Given the description of an element on the screen output the (x, y) to click on. 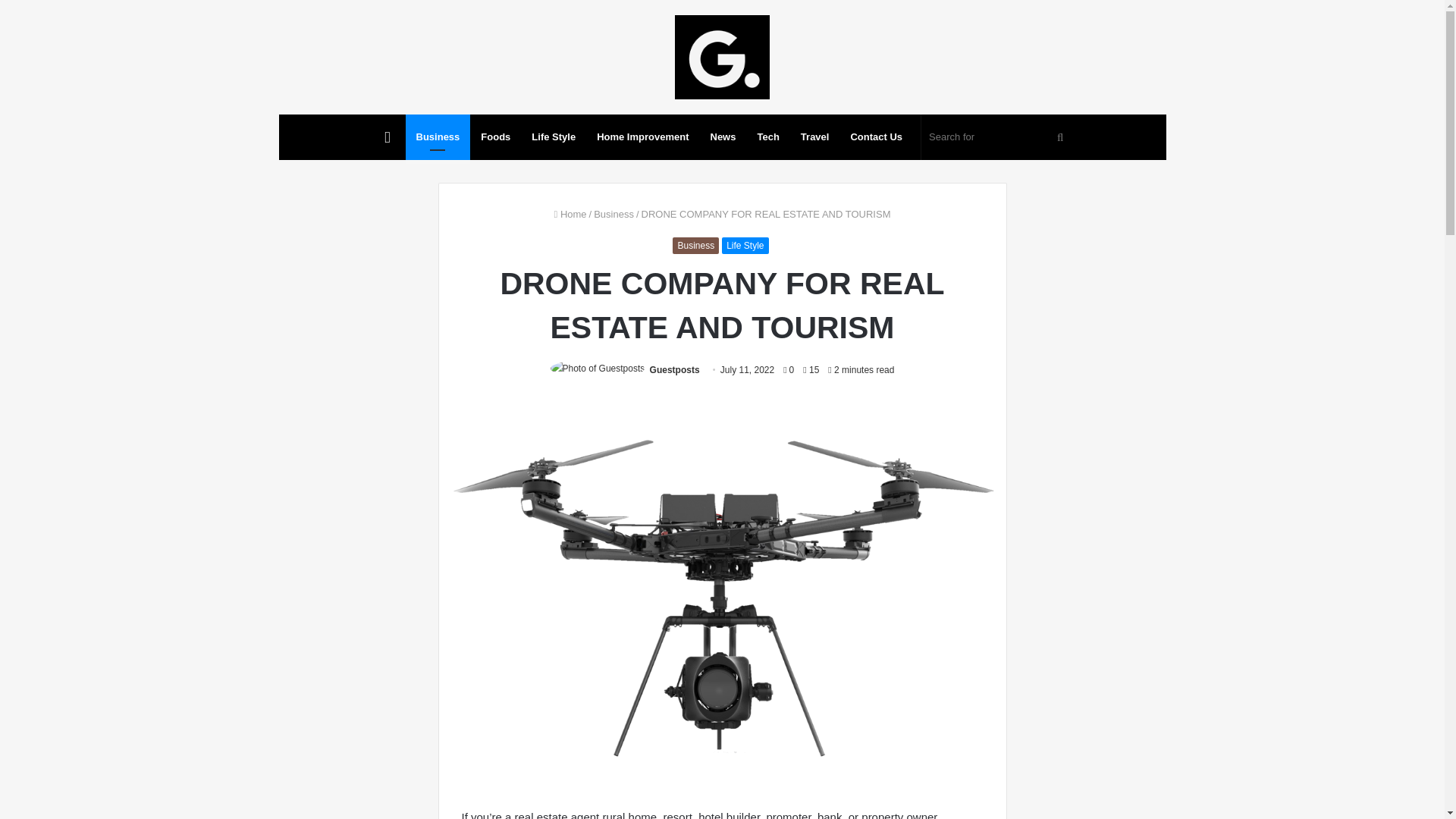
Tech (767, 136)
Business (613, 214)
Life Style (553, 136)
Life Style (745, 245)
Guestposts (674, 369)
Guestposts (674, 369)
Home Improvement (642, 136)
News (721, 136)
Home (570, 214)
Business (438, 136)
